Given the description of an element on the screen output the (x, y) to click on. 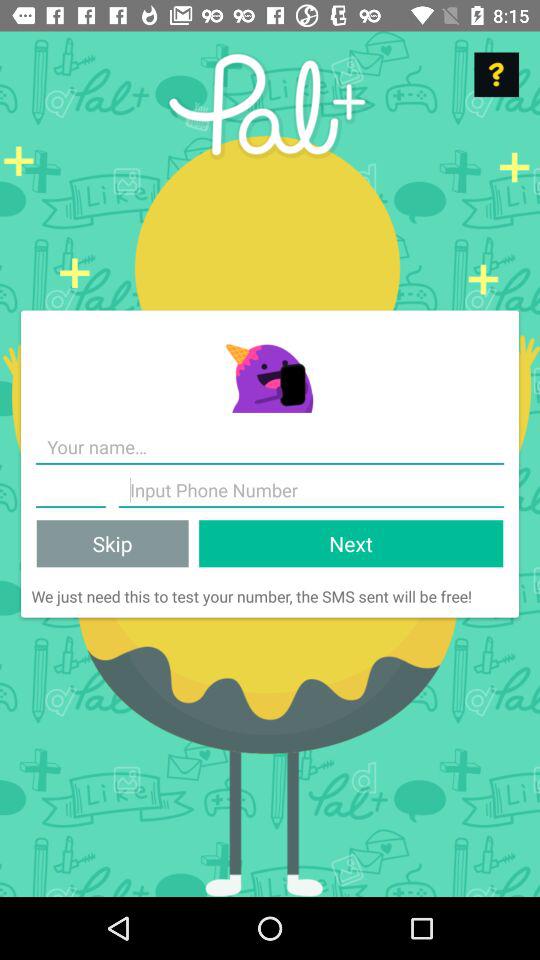
text field for your phone number 's area code (70, 490)
